Given the description of an element on the screen output the (x, y) to click on. 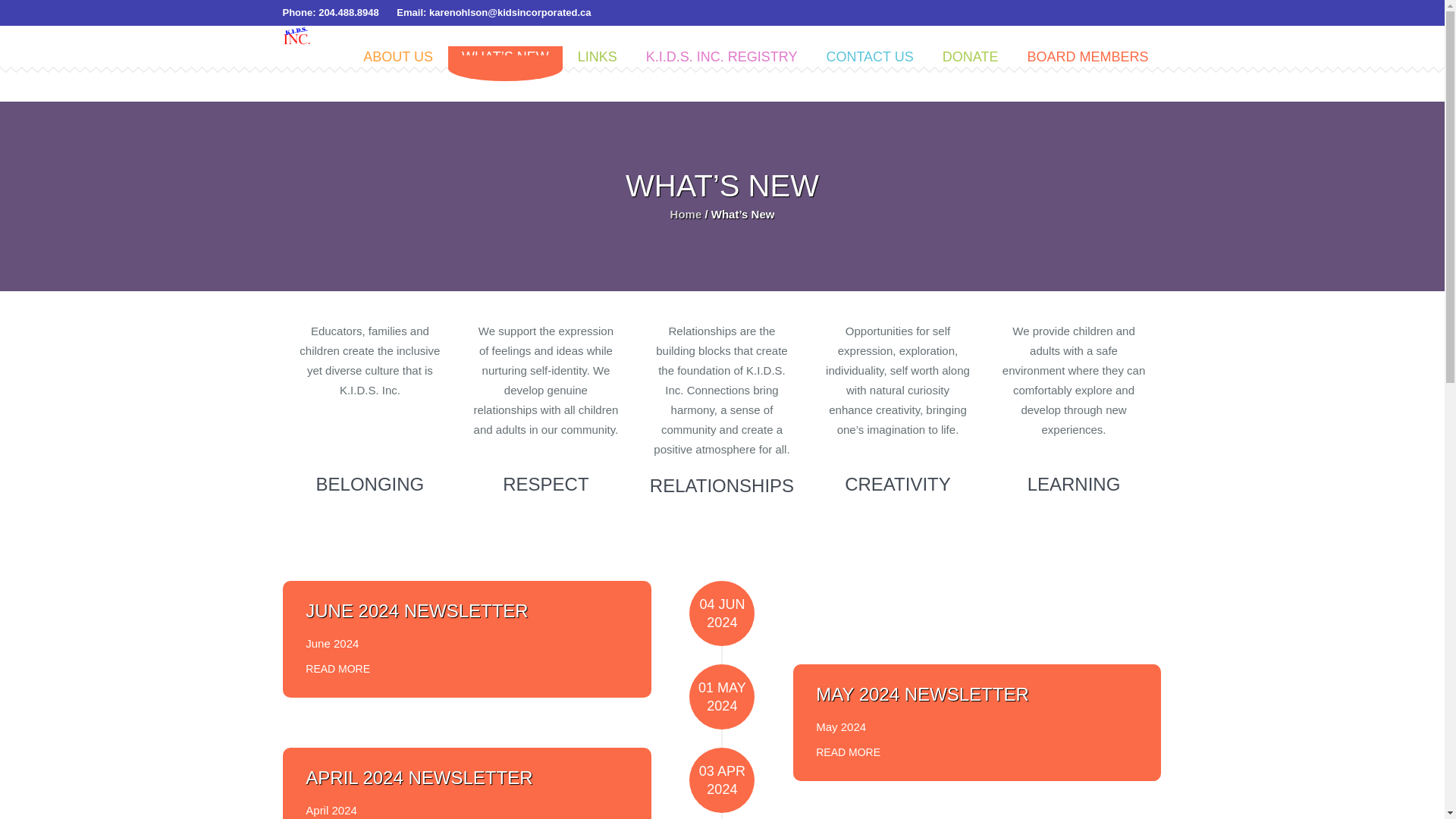
K.I.D.S. Inc. Winnipeg Manitoba (721, 55)
K.I.D.S. Inc. Winnipeg Manitoba (1087, 55)
K.I.D.S. INC. REGISTRY (721, 55)
Home (685, 214)
K.I.D.S. Inc. Winnipeg Manitoba (506, 55)
CONTACT US (870, 55)
BOARD MEMBERS (1087, 55)
KIDS Incorporated, Manitoba, Winnipeg (685, 214)
KIDS Incorporated, Manitoba, Winnipeg (296, 35)
JUNE 2024 NEWSLETTER (416, 610)
K.I.D.S. Inc. Winnipeg Manitoba (398, 55)
DONATE (970, 55)
June 4, 2024 (721, 613)
MAY 2024 NEWSLETTER (922, 693)
